Given the description of an element on the screen output the (x, y) to click on. 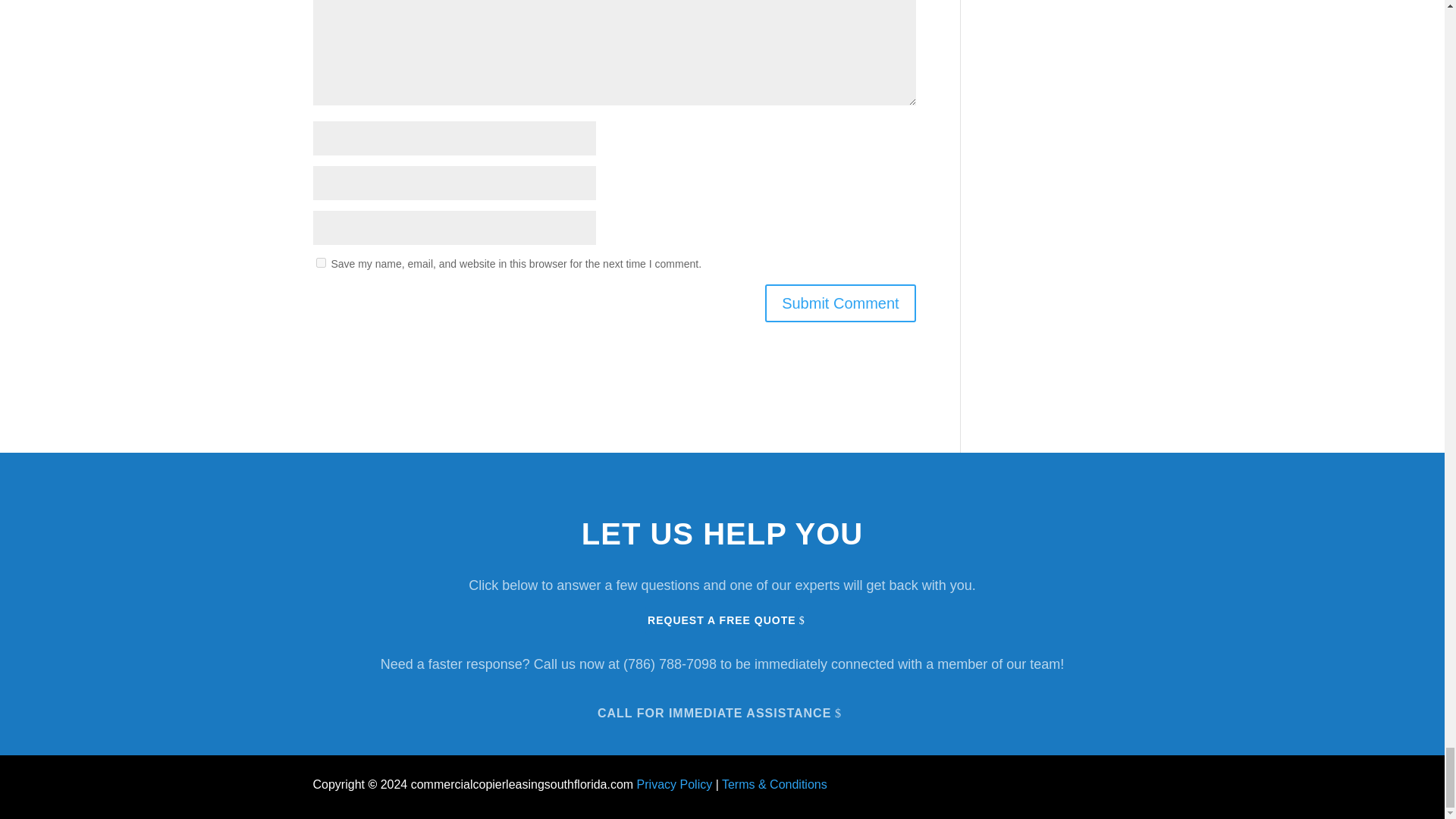
yes (319, 262)
Submit Comment (840, 303)
Submit Comment (840, 303)
